Given the description of an element on the screen output the (x, y) to click on. 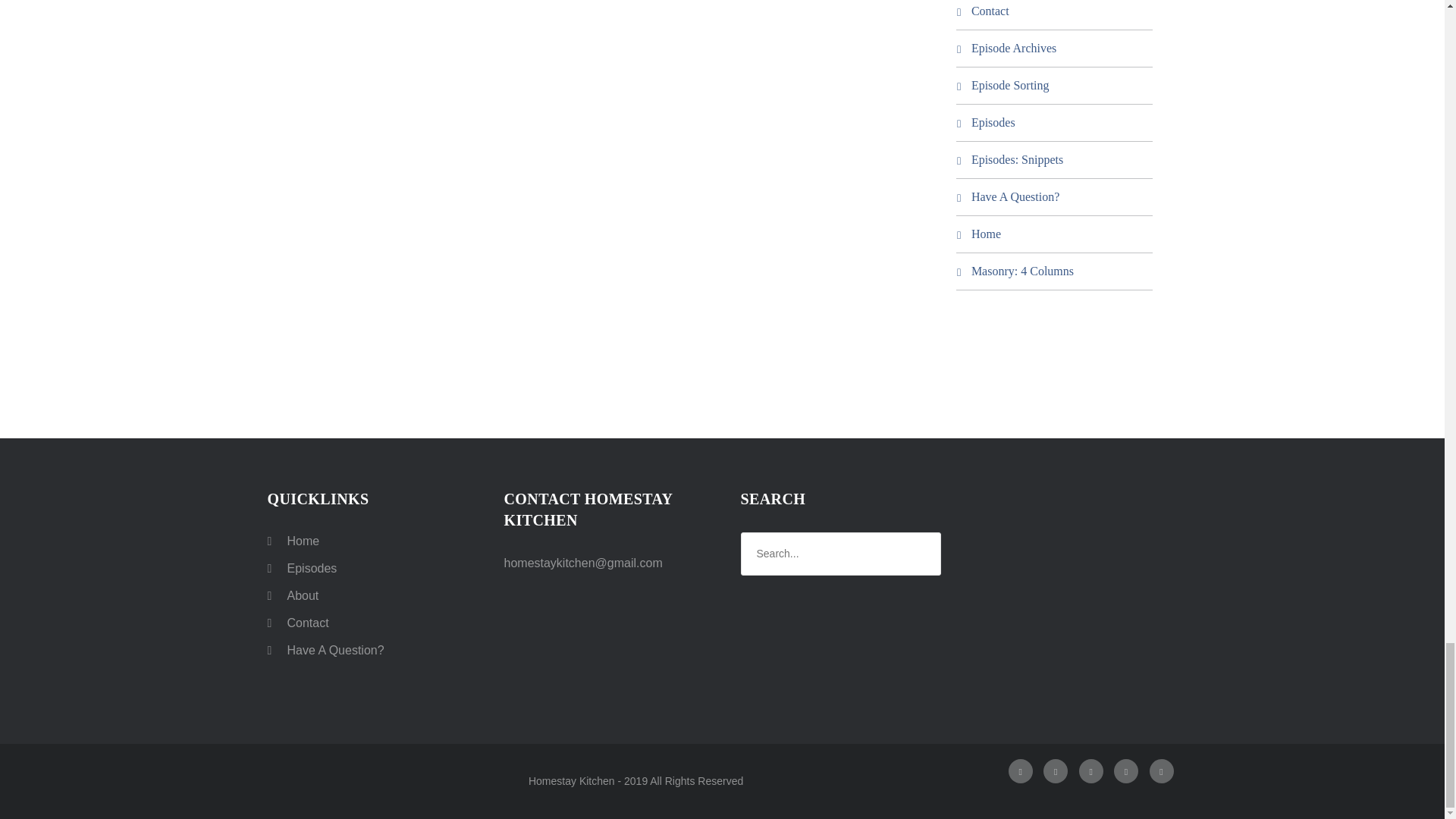
Android (1161, 770)
Podcast (1125, 770)
Instagram (1055, 770)
Facebook (1020, 770)
RSS (1090, 770)
